Given the description of an element on the screen output the (x, y) to click on. 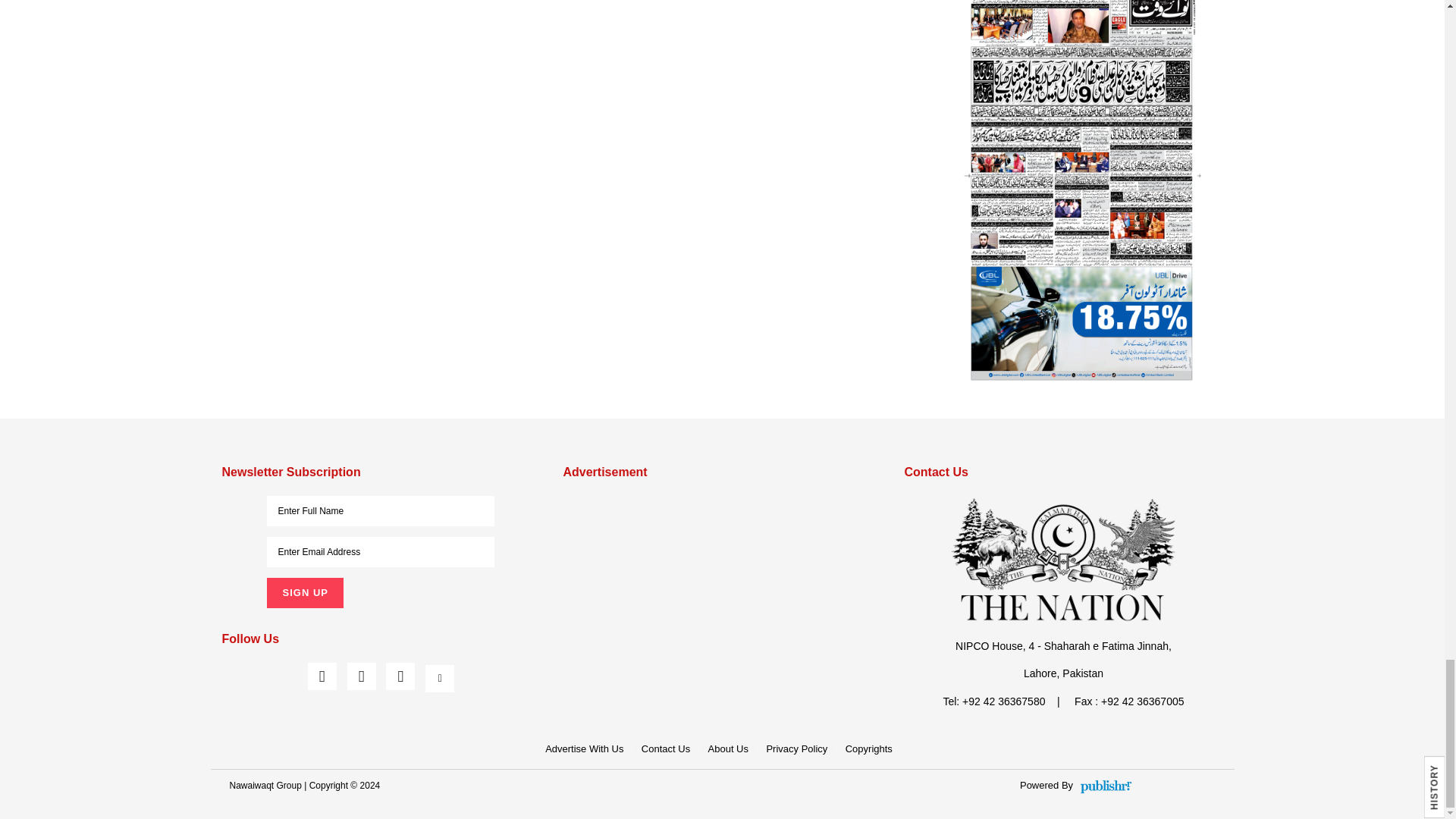
Sign up (304, 593)
